Given the description of an element on the screen output the (x, y) to click on. 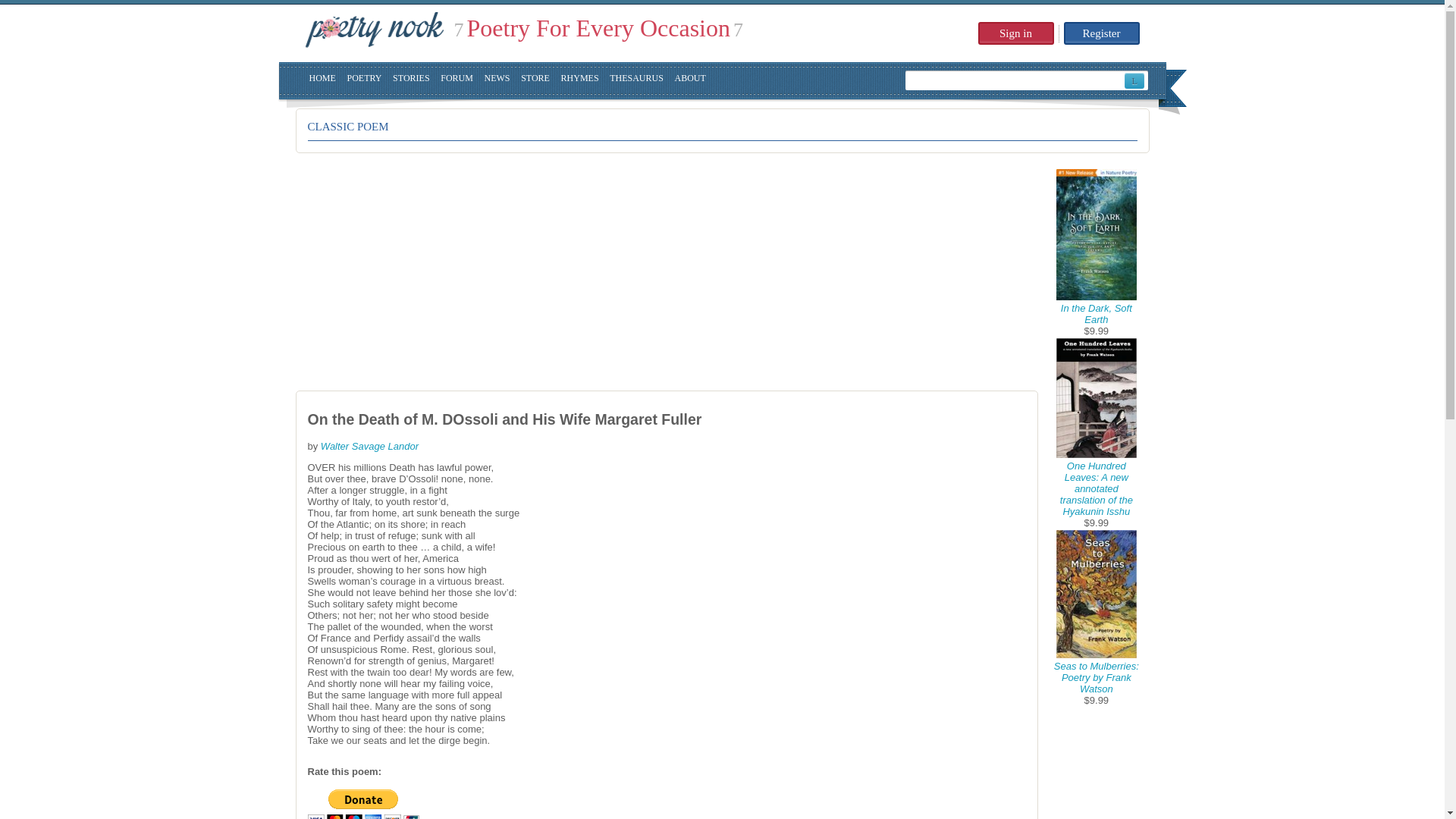
THESAURUS (636, 79)
Home (373, 29)
In the Dark, Soft Earth (1096, 313)
HOME (322, 79)
POETRY (363, 79)
Enter the terms you wish to search for. (1014, 80)
ABOUT (690, 79)
Register (1100, 33)
NEWS (497, 79)
